Given the description of an element on the screen output the (x, y) to click on. 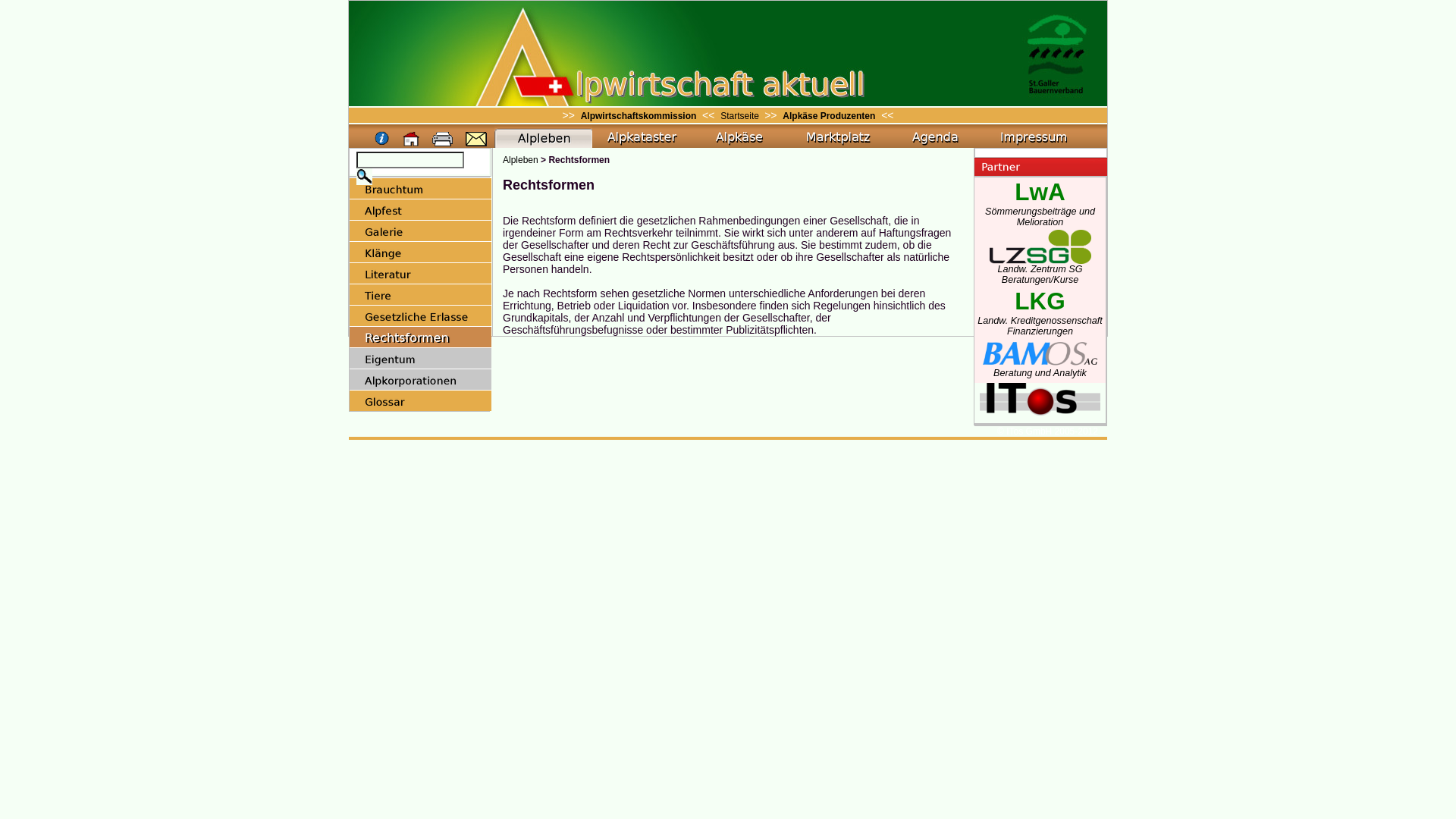
Startseite Element type: text (740, 115)
Mail Element type: hover (476, 139)
Bamos AG Element type: hover (1040, 352)
Landw. Zentrum SG Beratungen/Kurse Element type: text (1039, 270)
Alpwirtschaftskommission Element type: text (638, 115)
Info Element type: hover (382, 139)
Home Element type: hover (411, 139)
Alpleben Element type: text (520, 159)
submit Element type: hover (364, 176)
LKG
Landw. Kreditgenossenschaft Finanzierungen Element type: text (1039, 318)
Beratung und Analytik Element type: text (1040, 368)
Print Element type: hover (442, 139)
LZSG Element type: hover (1039, 246)
ITos GmbH Element type: hover (1039, 409)
